Given the description of an element on the screen output the (x, y) to click on. 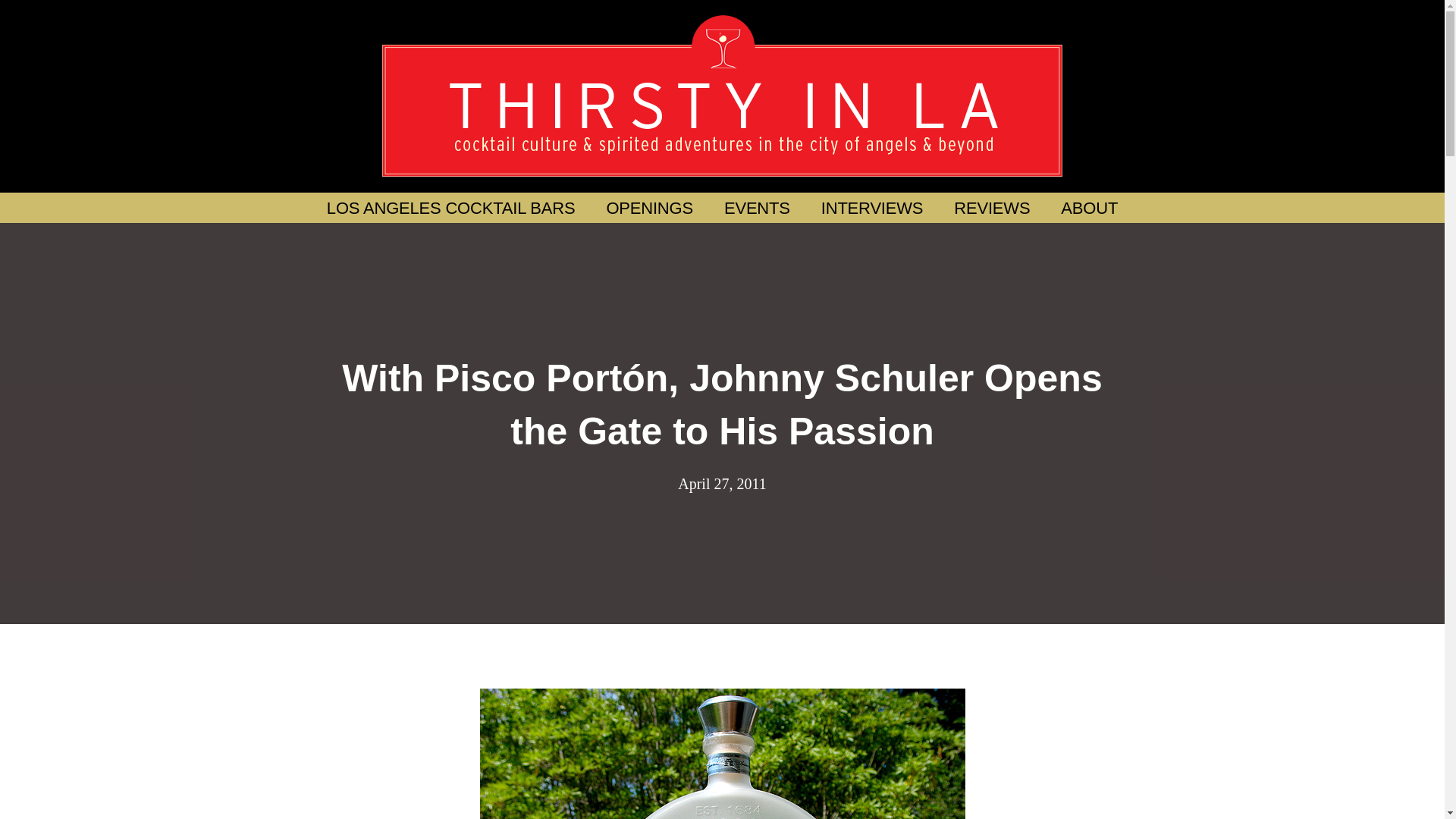
INTERVIEWS (872, 208)
REVIEWS (992, 208)
LOS ANGELES COCKTAIL BARS (451, 208)
OPENINGS (649, 208)
EVENTS (757, 208)
ABOUT (1088, 208)
thirstyheader (721, 96)
